Given the description of an element on the screen output the (x, y) to click on. 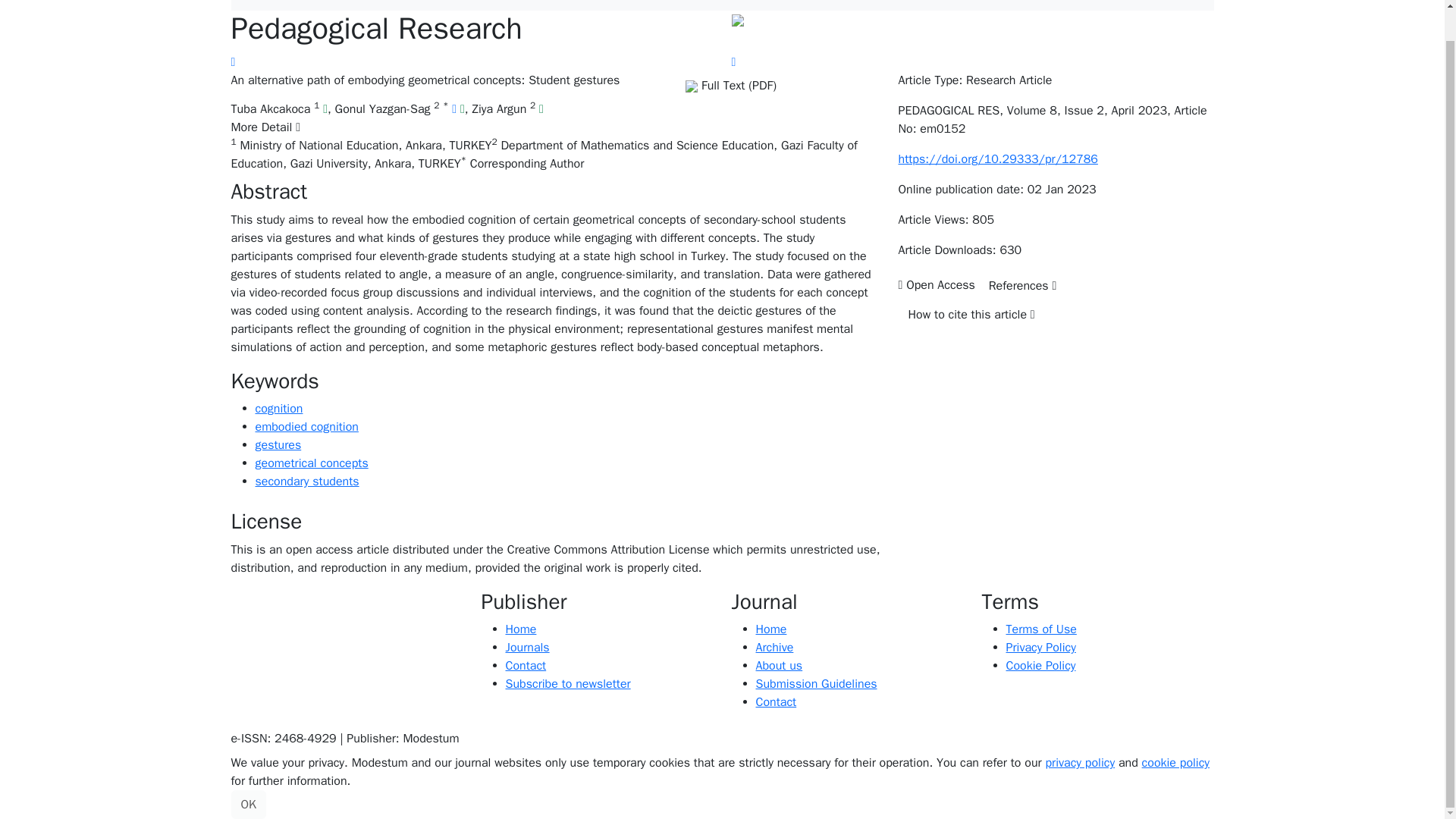
For Authors (980, 2)
cognition (278, 408)
secondary students (306, 481)
gestures (277, 444)
embodied cognition (306, 426)
About (913, 2)
Contact (1047, 2)
Home (812, 2)
Submit Manuscript (1149, 2)
Archive (863, 2)
